Given the description of an element on the screen output the (x, y) to click on. 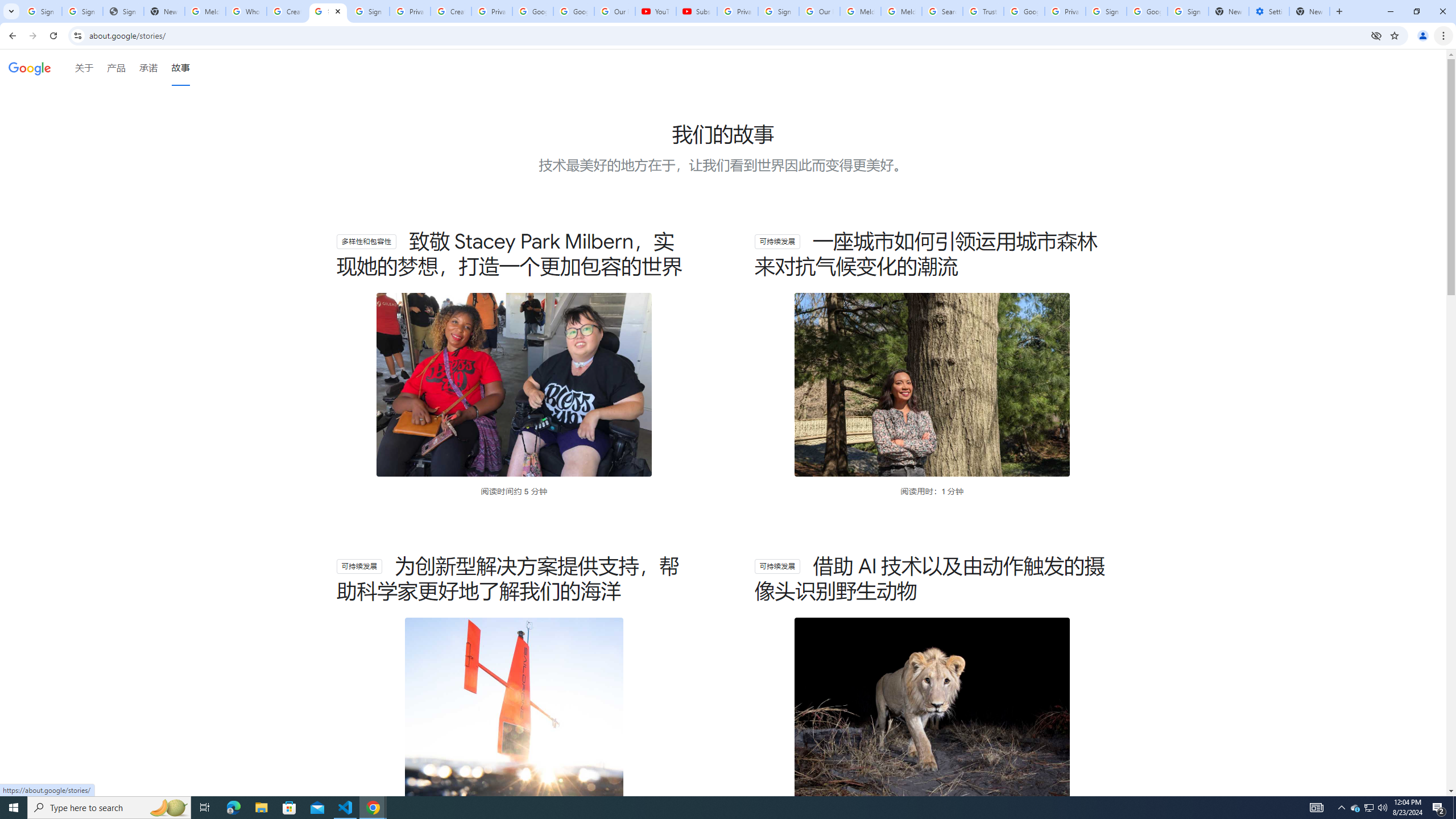
Google (29, 68)
Who is my administrator? - Google Account Help (246, 11)
Create your Google Account (287, 11)
Sign in - Google Accounts (1105, 11)
YouTube (655, 11)
